Given the description of an element on the screen output the (x, y) to click on. 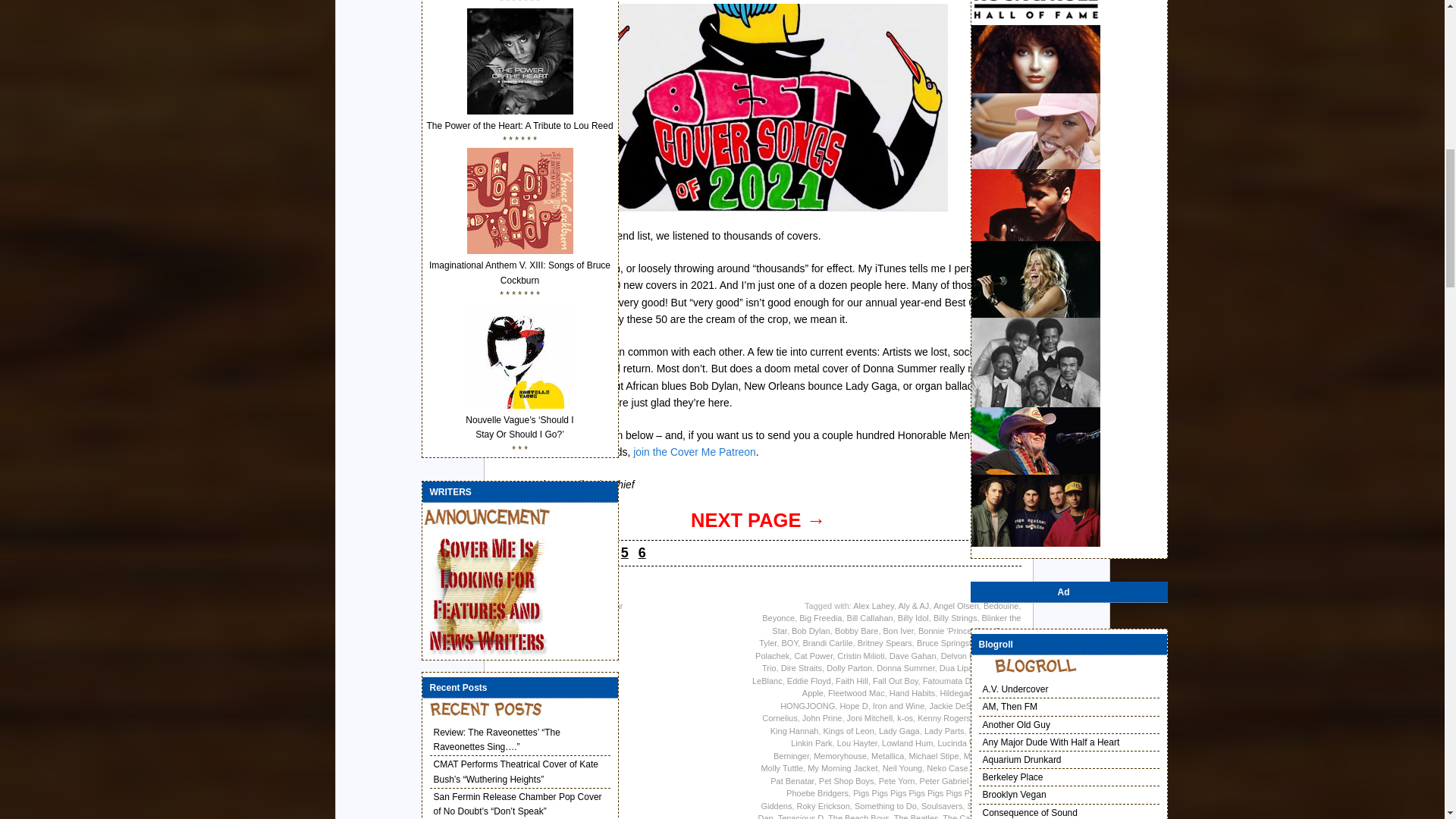
2 (572, 552)
1 (555, 552)
3 (589, 552)
join the Cover Me Patreon (694, 451)
4 (606, 552)
